Given the description of an element on the screen output the (x, y) to click on. 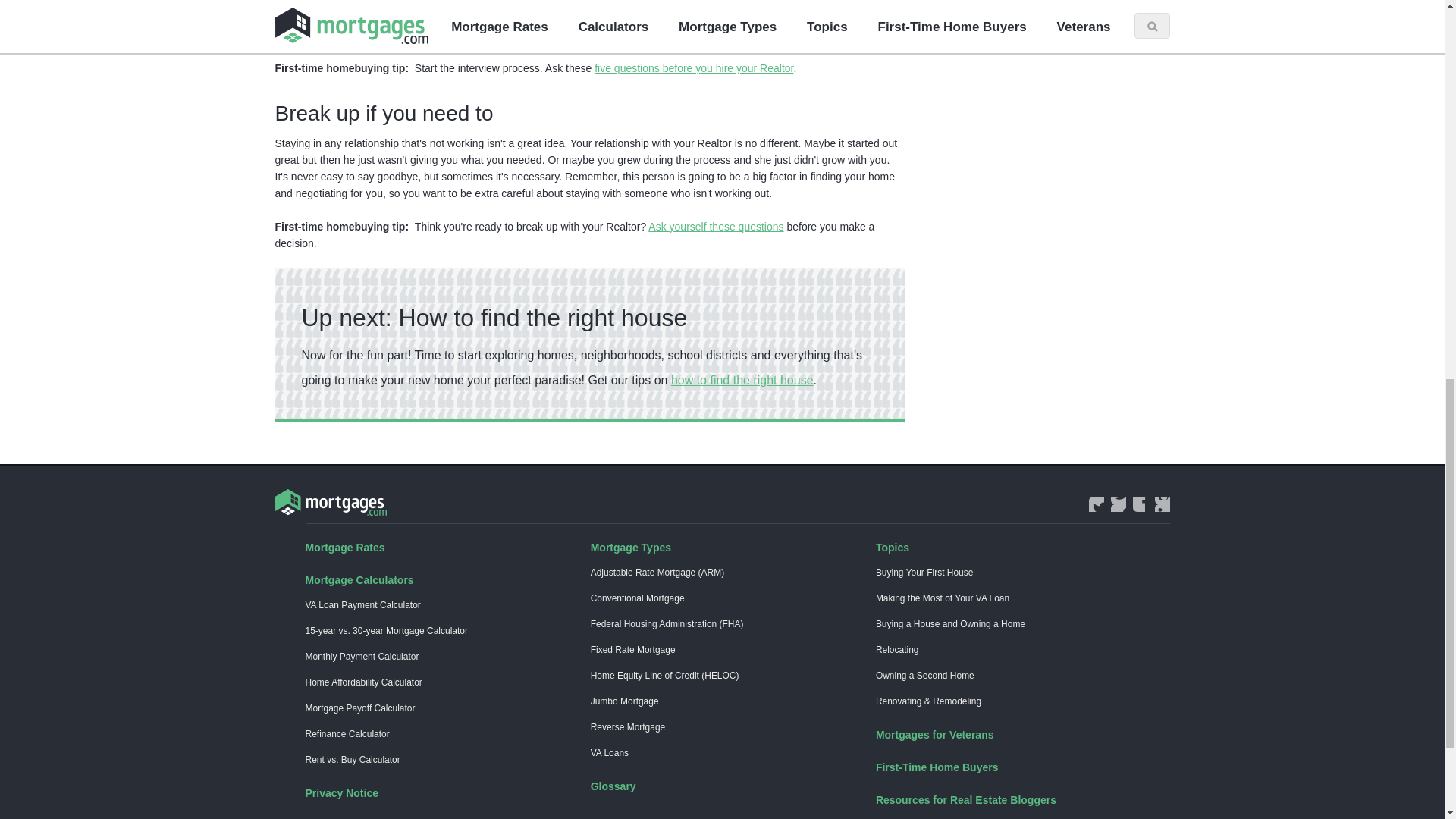
Ask yourself these questions (715, 226)
how to find the right house (742, 379)
five questions before you hire your Realtor (693, 68)
